Given the description of an element on the screen output the (x, y) to click on. 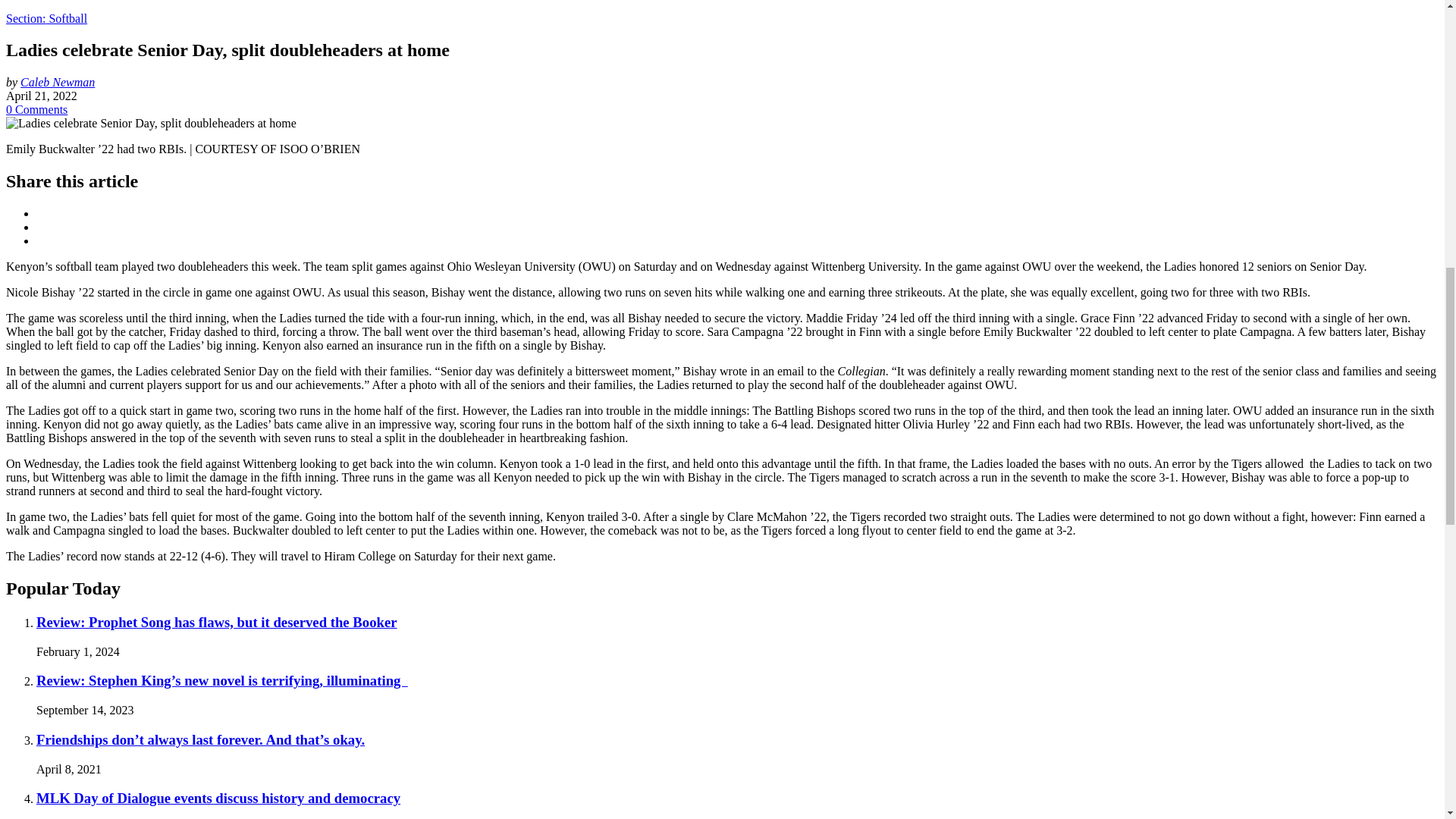
0 Comments (35, 109)
Section: Softball (46, 18)
Caleb Newman (57, 82)
MLK Day of Dialogue events discuss history and democracy (218, 797)
Review: Prophet Song has flaws, but it deserved the Booker (216, 621)
